Given the description of an element on the screen output the (x, y) to click on. 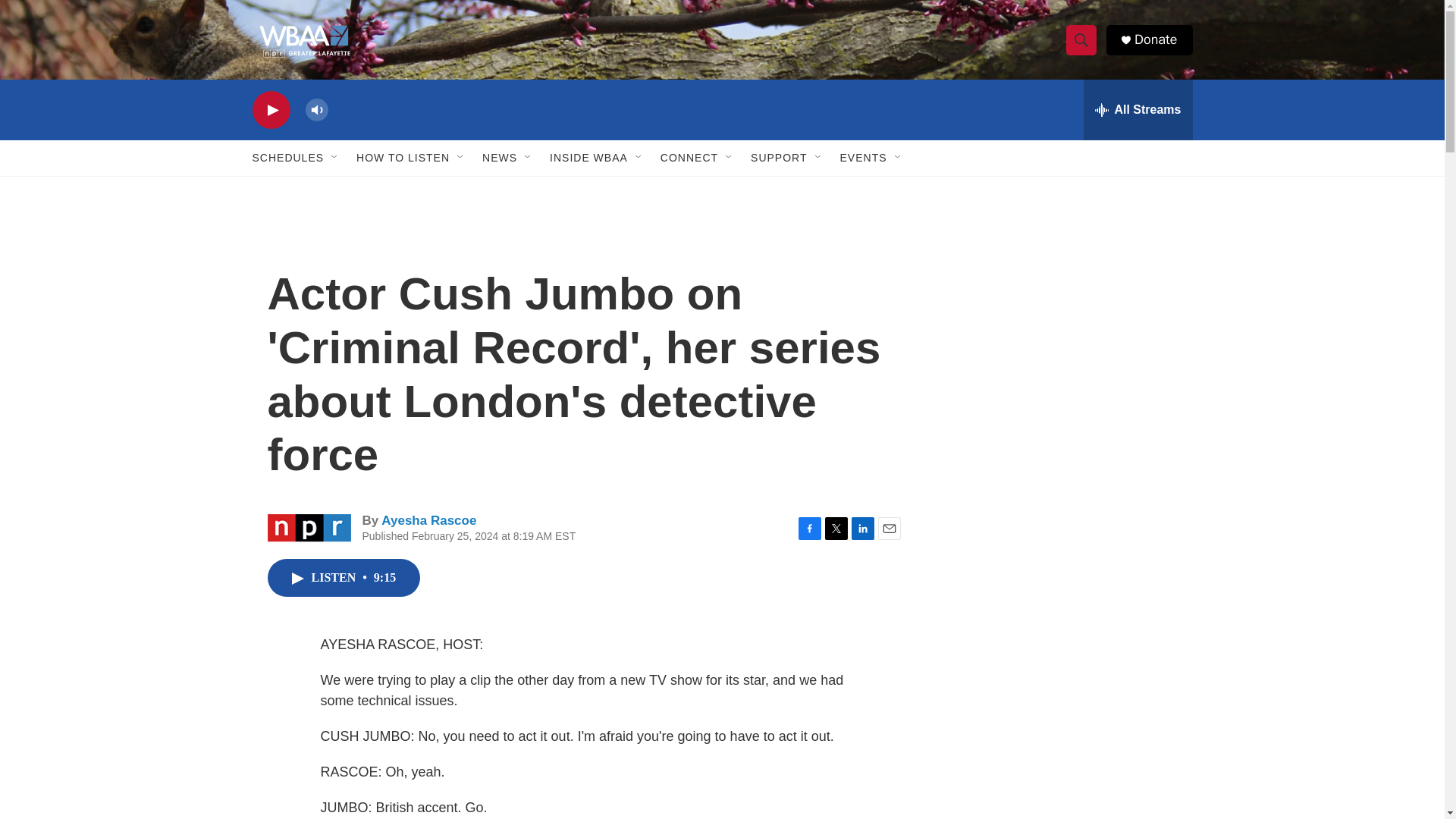
3rd party ad content (1062, 316)
